Given the description of an element on the screen output the (x, y) to click on. 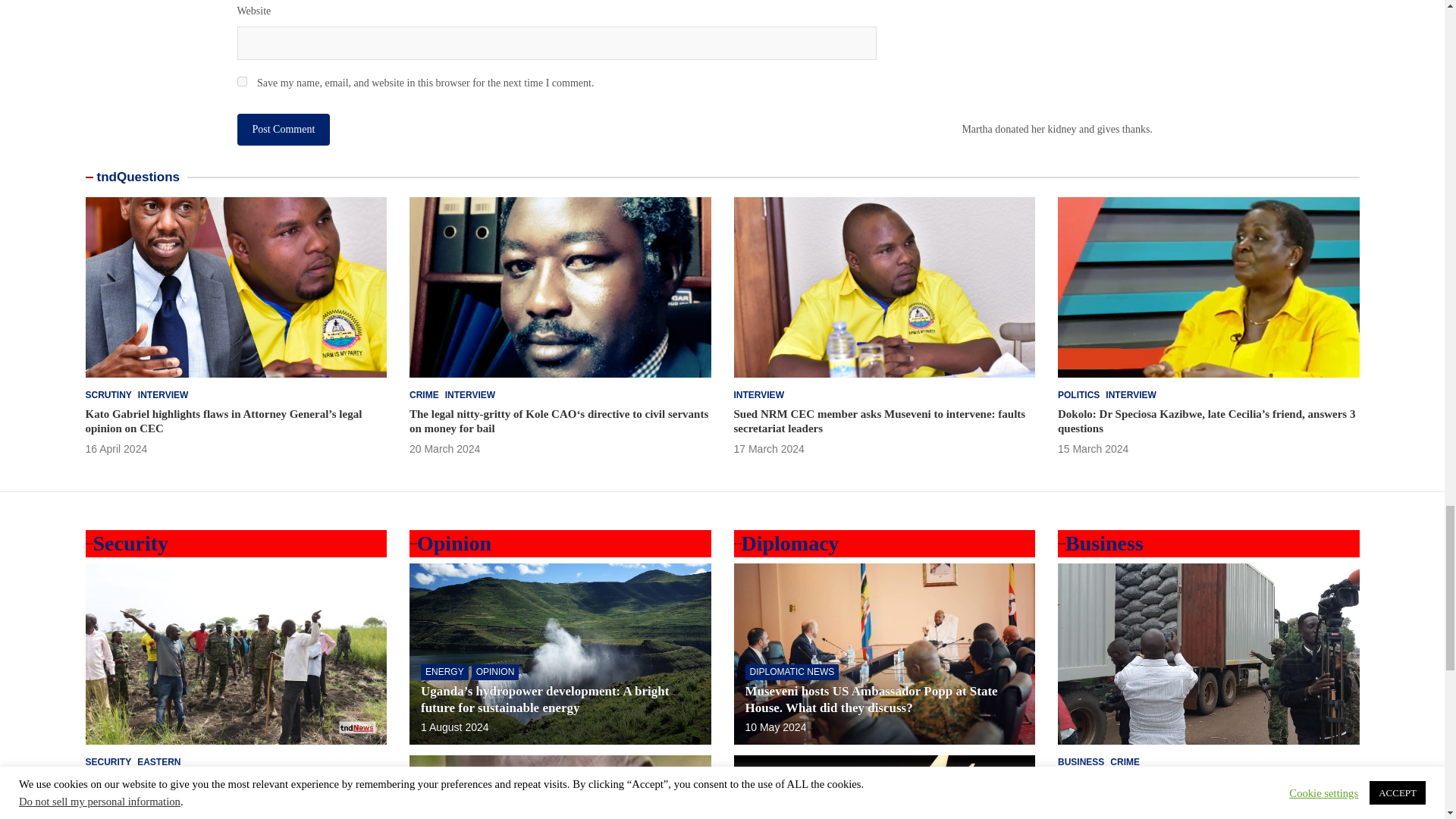
yes (240, 81)
Eastern locals donate land for the army brigade headquarters (110, 816)
Post Comment (282, 129)
